Given the description of an element on the screen output the (x, y) to click on. 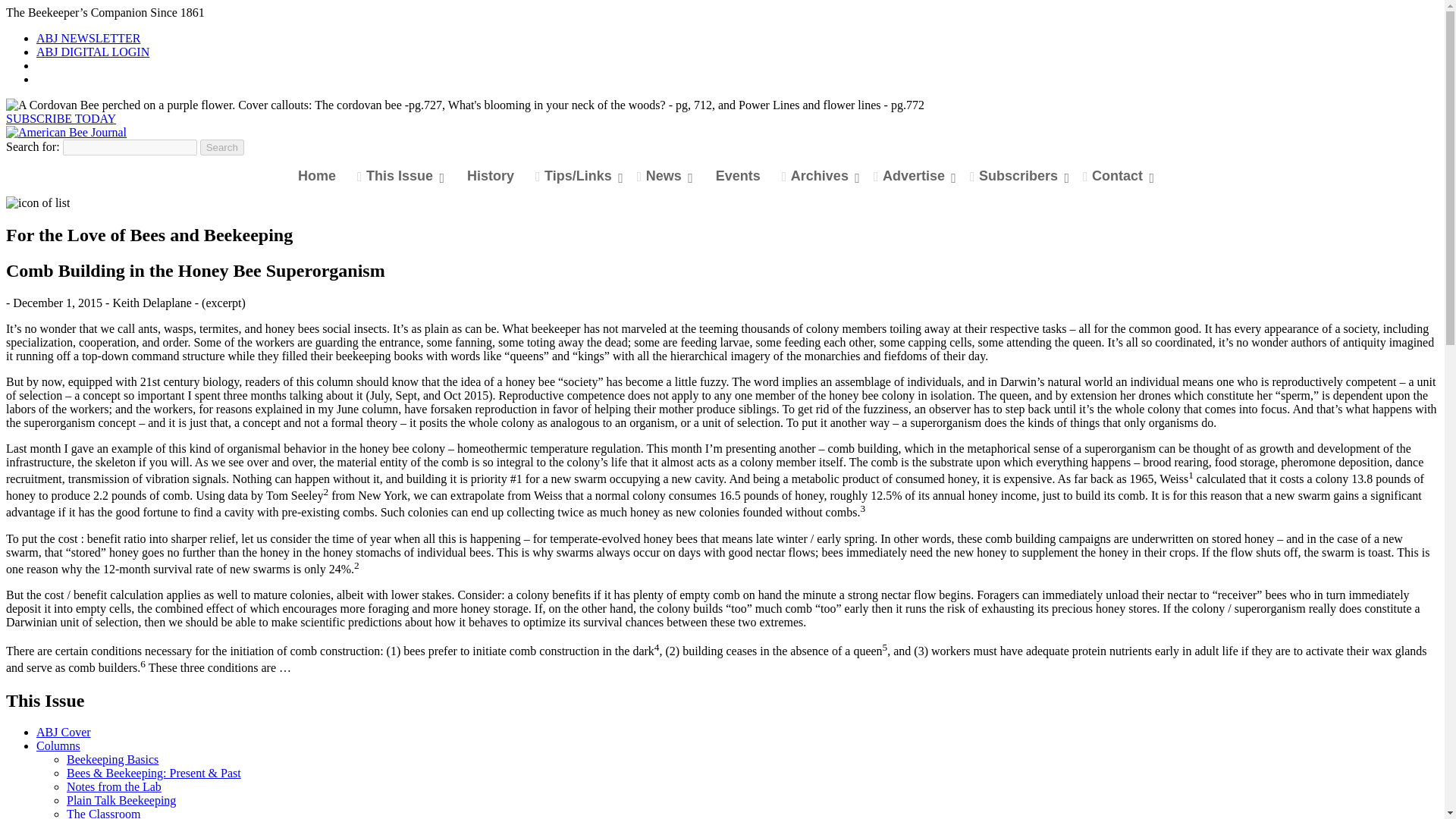
Home (316, 175)
Search (222, 147)
ABJ NEWSLETTER (87, 38)
Events (738, 175)
History (490, 175)
ABJ DIGITAL LOGIN (92, 51)
Search (222, 147)
SUBSCRIBE TODAY (60, 118)
American Bee Journal (65, 132)
